Given the description of an element on the screen output the (x, y) to click on. 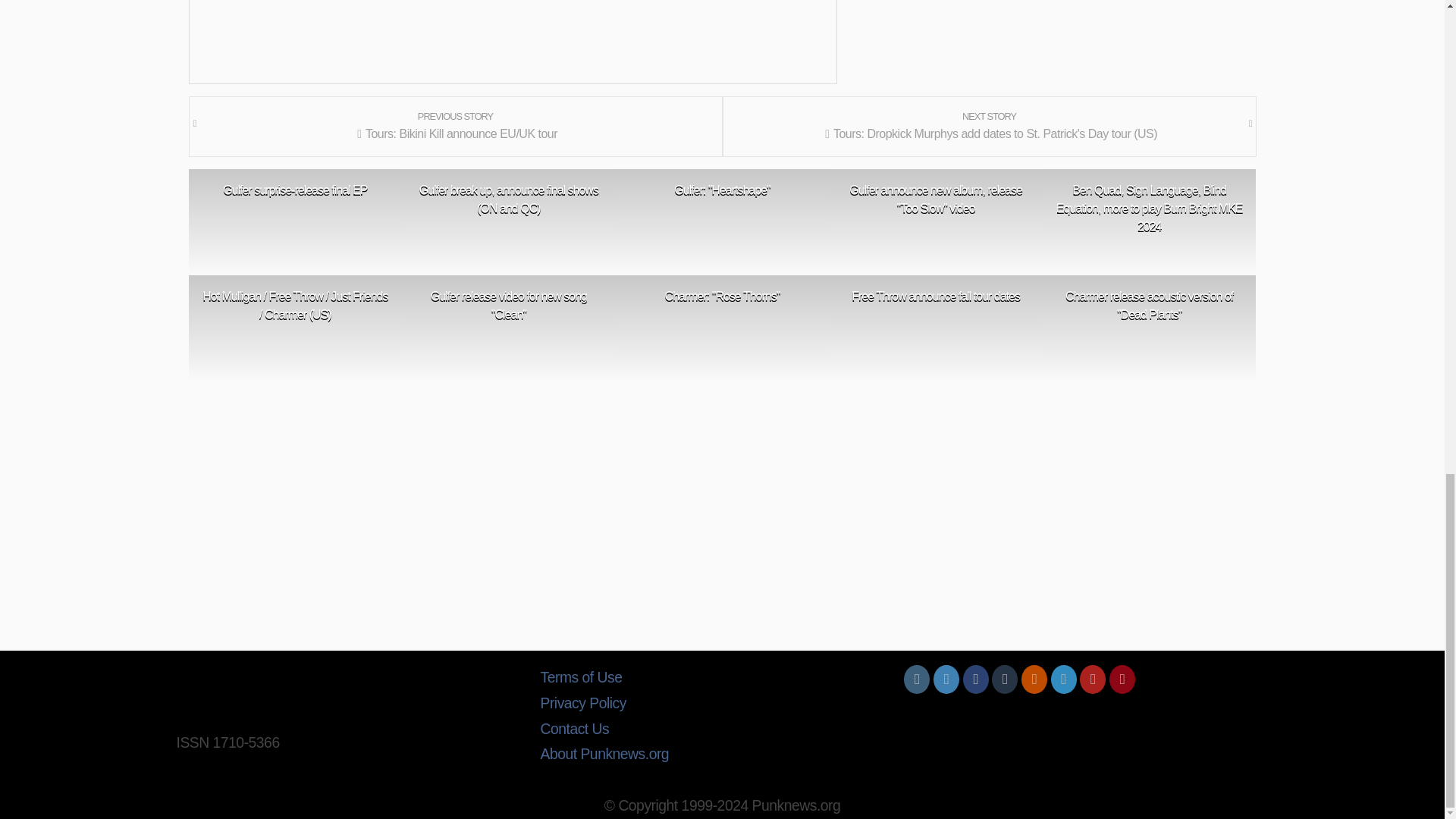
Gulfer: "Heartshape" (721, 189)
Free Throw announce fall tour dates (935, 296)
Punknews.org on Pinterest (1122, 678)
Contact Us (722, 729)
Gulfer announce new album, release "Too Slow" video (935, 198)
Punknews.org on YouTube (1092, 678)
Punknews.org on Tumblr (1004, 678)
Charmer: "Rose Thorns" (721, 296)
Punknews.org main RSS feed (1034, 678)
Punknews.org on Twitter (946, 678)
